Given the description of an element on the screen output the (x, y) to click on. 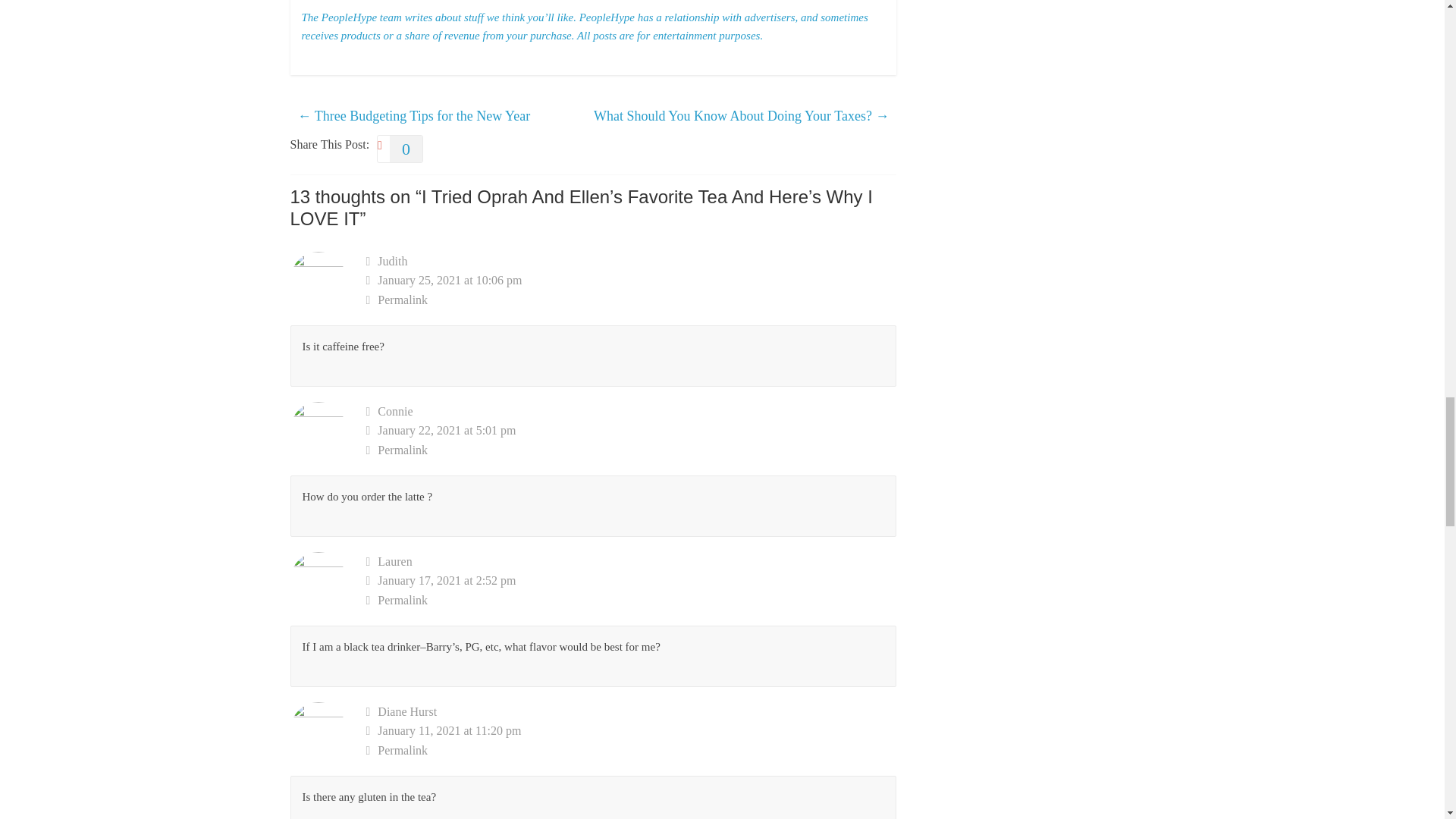
Permalink (630, 600)
Permalink (630, 450)
Permalink (630, 750)
Permalink (630, 300)
0 (400, 148)
